Given the description of an element on the screen output the (x, y) to click on. 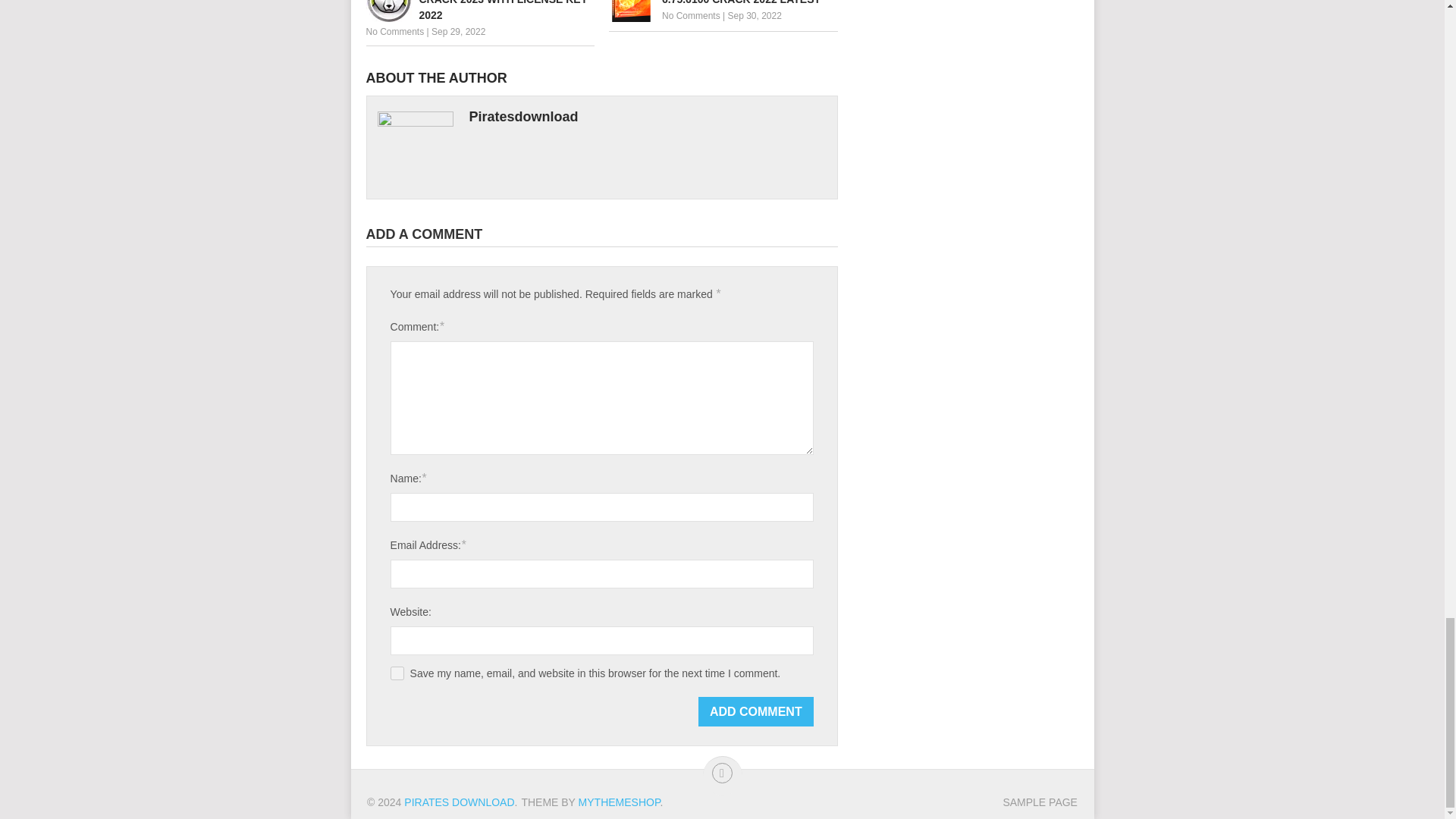
yes (397, 673)
No Comments (691, 15)
Deep Freeze Standard 8.65.4 Crack 2023 With License Key 2022 (479, 11)
Add Comment (755, 711)
AIDA64 EXTREME ENGINEER 6.75.6100 CRACK 2022 LATEST (723, 3)
Add Comment (755, 711)
DEEP FREEZE STANDARD 8.65.4 CRACK 2023 WITH LICENSE KEY 2022 (479, 11)
AIDA64 Extreme Engineer 6.75.6100 Crack 2022 Latest (723, 3)
No Comments (394, 31)
